Given the description of an element on the screen output the (x, y) to click on. 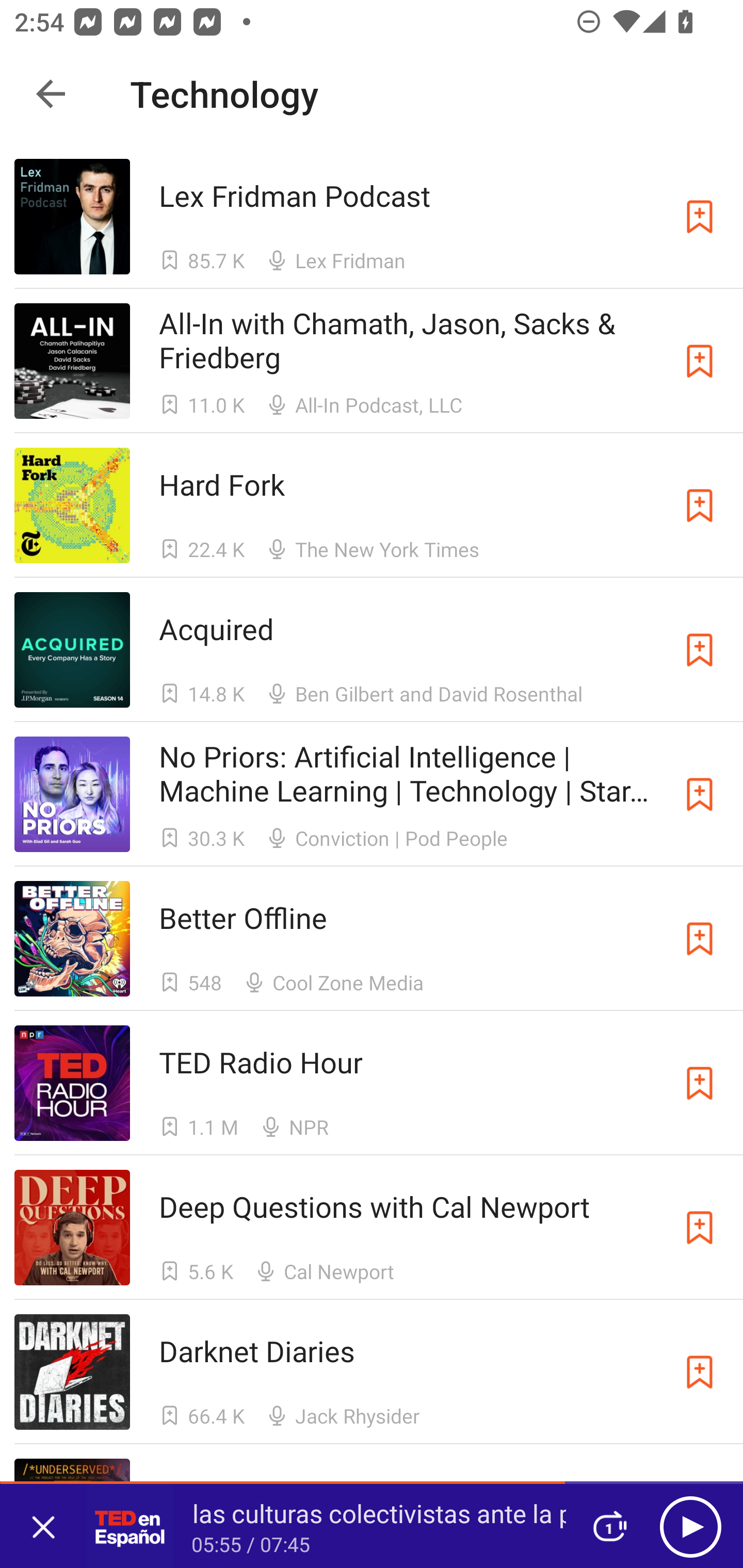
Navigate up (50, 93)
Subscribe (699, 216)
Subscribe (699, 360)
Subscribe (699, 505)
Subscribe (699, 649)
Subscribe (699, 793)
Subscribe (699, 939)
Subscribe (699, 1083)
Subscribe (699, 1227)
Subscribe (699, 1371)
Play (690, 1526)
